Given the description of an element on the screen output the (x, y) to click on. 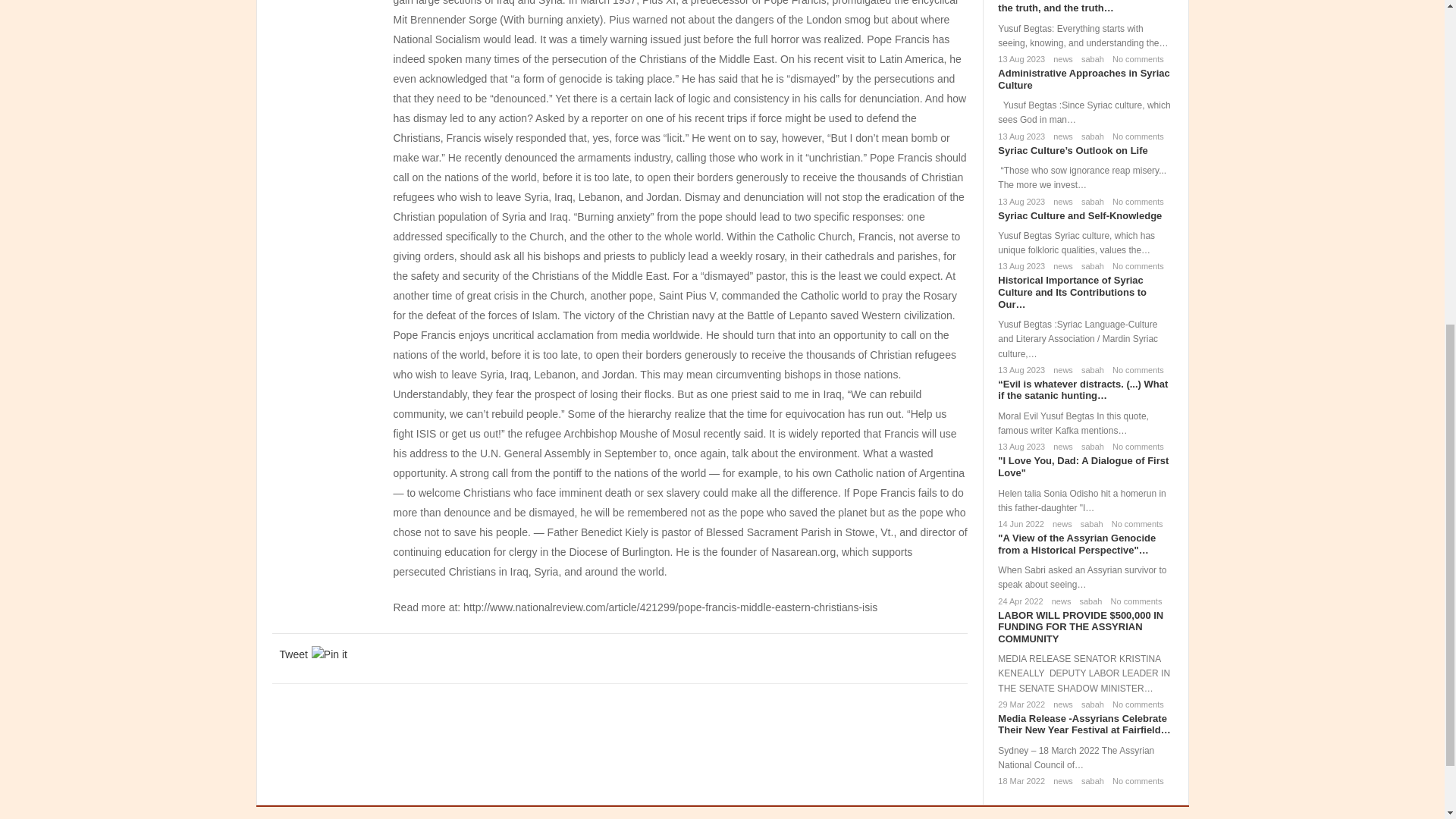
I Love You, Dad: A Dialogue of First Love (1083, 466)
Pin it (329, 654)
Administrative Approaches in Syriac Culture (1083, 78)
Tweet (293, 654)
